Given the description of an element on the screen output the (x, y) to click on. 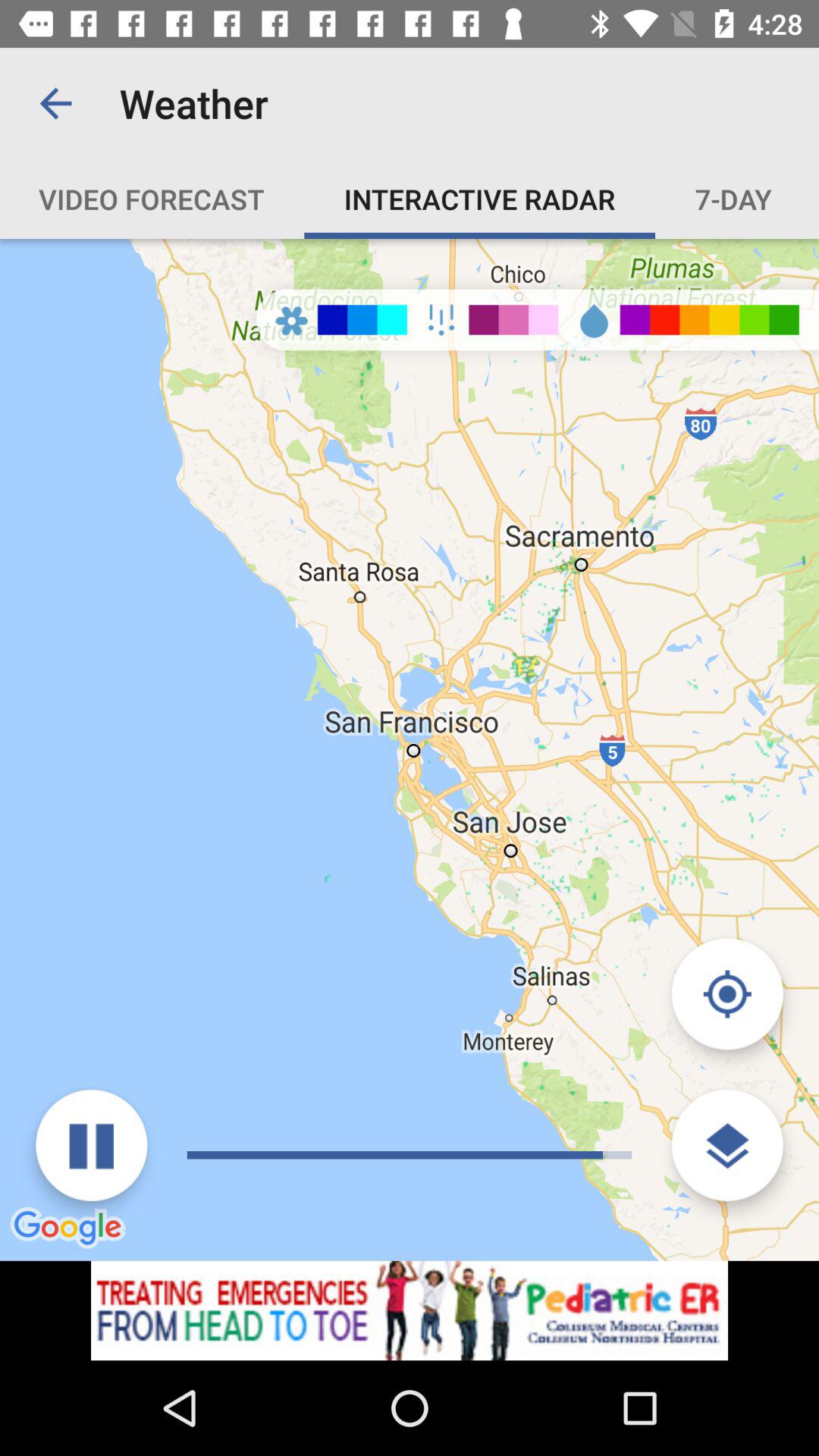
pasue button (91, 1145)
